Given the description of an element on the screen output the (x, y) to click on. 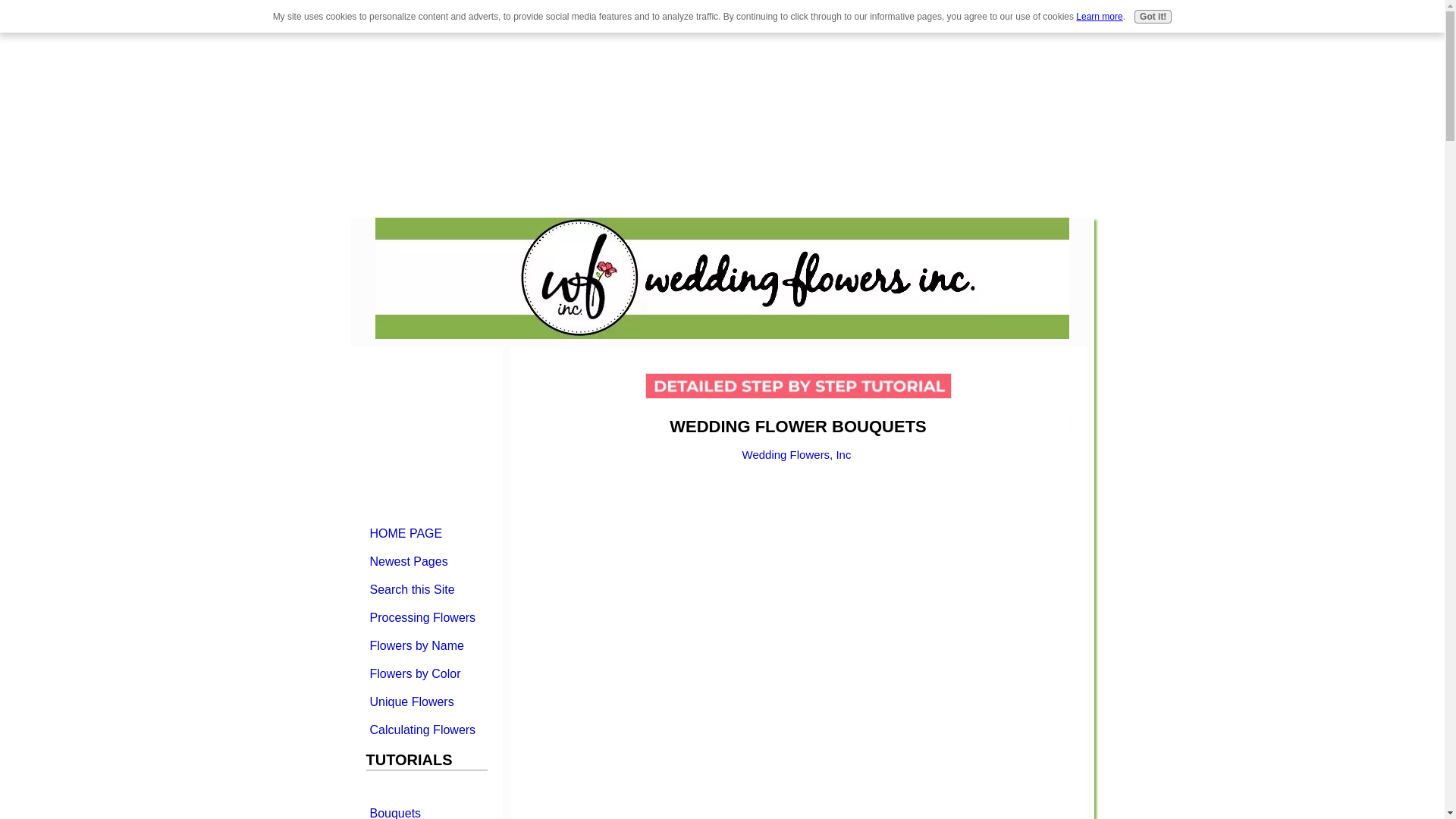
Flowers by Name (425, 645)
Newest Pages (425, 561)
Flowers by Color (425, 673)
Unique Flowers (425, 701)
Advertisement (127, 106)
Search this Site (425, 588)
Wedding Flowers, Inc (796, 454)
Processing Flowers (425, 617)
Calculating Flowers (425, 729)
HOME PAGE (425, 533)
Bouquets (425, 809)
